Given the description of an element on the screen output the (x, y) to click on. 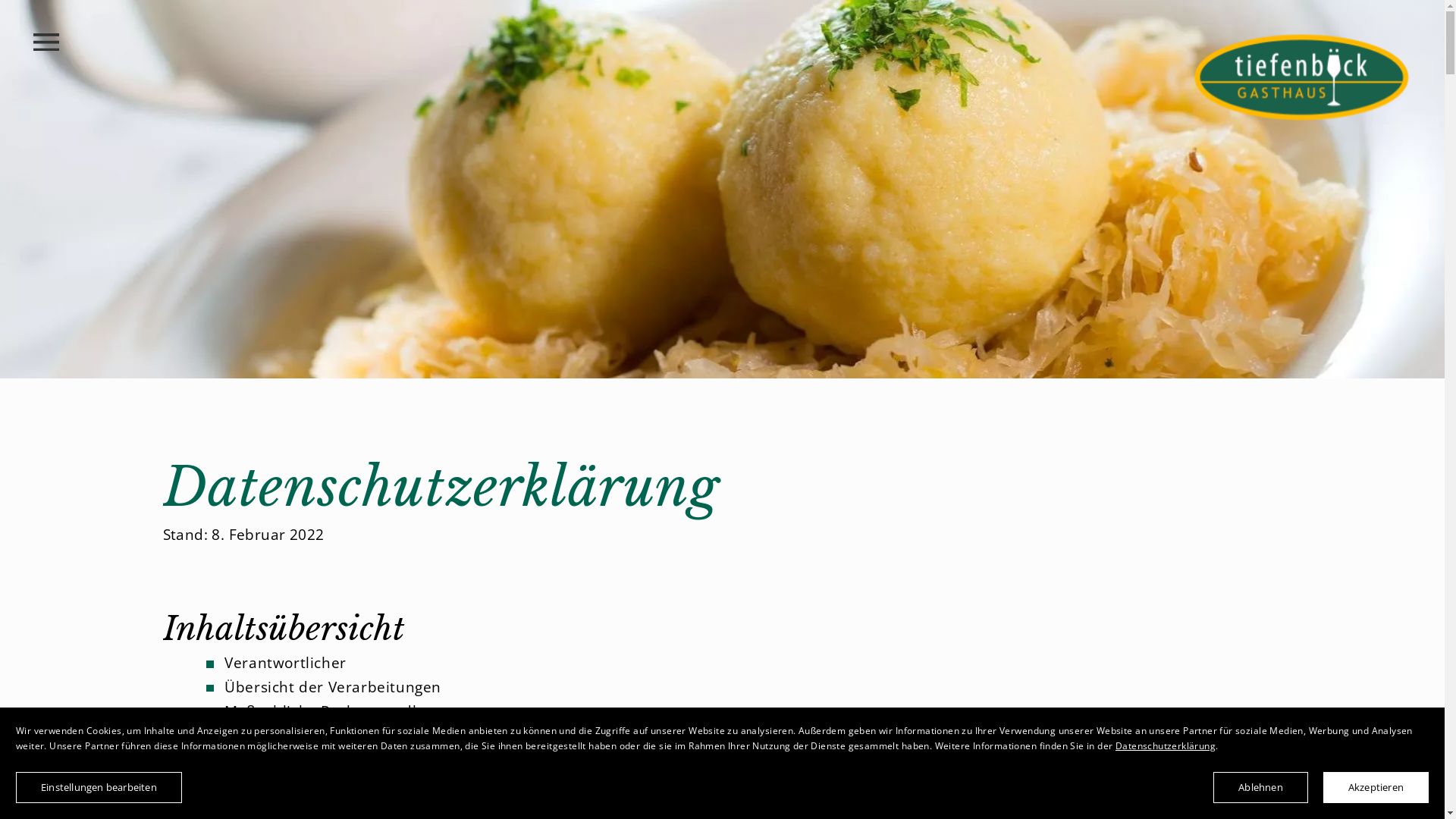
Akzeptieren Element type: text (1375, 787)
Ablehnen Element type: text (1260, 787)
Einstellungen bearbeiten Element type: text (98, 787)
